Given the description of an element on the screen output the (x, y) to click on. 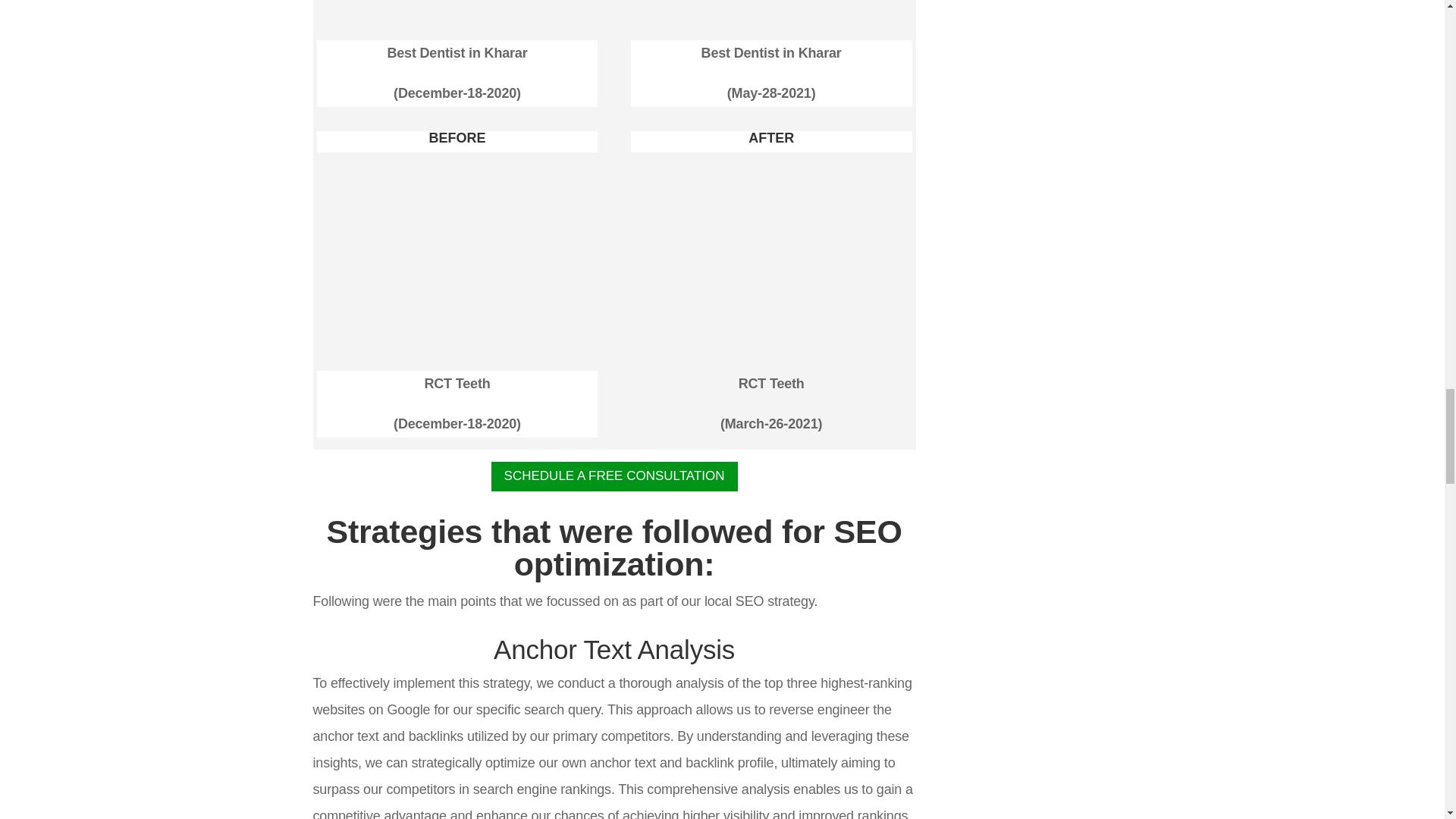
rct-teeth-20201218 (457, 261)
best-dentist-in-kharar-20210528 (771, 11)
best-dentist-in-kharar-20201218 (457, 11)
SCHEDULE A FREE CONSULTATION (615, 476)
best dentist in kharar before optimization (457, 24)
rct teeth after optimization (771, 354)
rct teeth before optimization (457, 354)
